Given the description of an element on the screen output the (x, y) to click on. 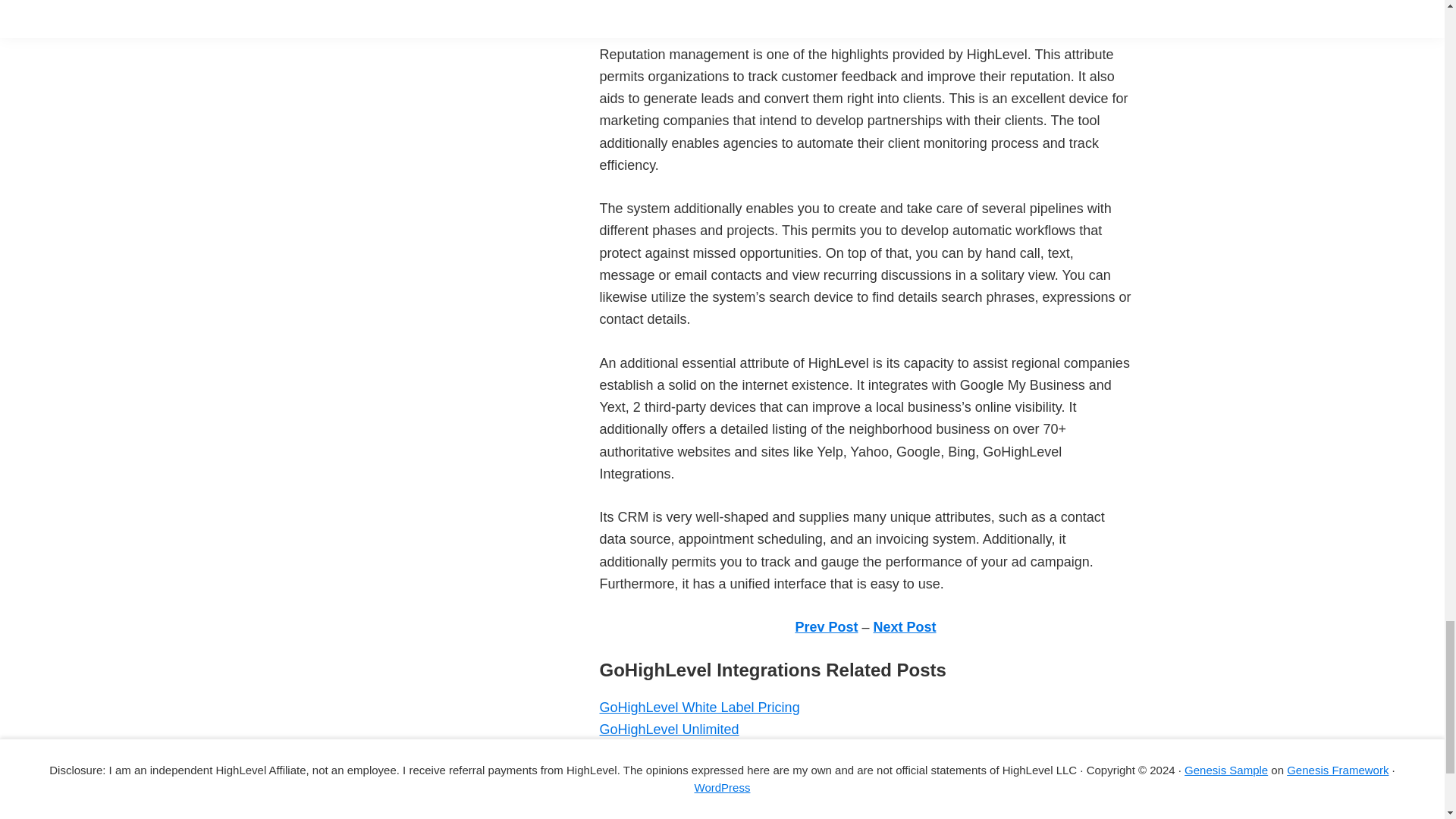
GoHighLevel UK (649, 752)
Prev Post (825, 626)
GoHighLevel Shopify (662, 795)
GoHighLevel White Label Pricing (698, 707)
GoHighLevel Unlimited (668, 729)
GoHighLevel JavaScript (671, 814)
GoHighLevel 14 Day Free Trial (692, 774)
GoHighLevel Unlimited (668, 729)
GoHighLevel UK (649, 752)
GoHighLevel Shopify (662, 795)
